Given the description of an element on the screen output the (x, y) to click on. 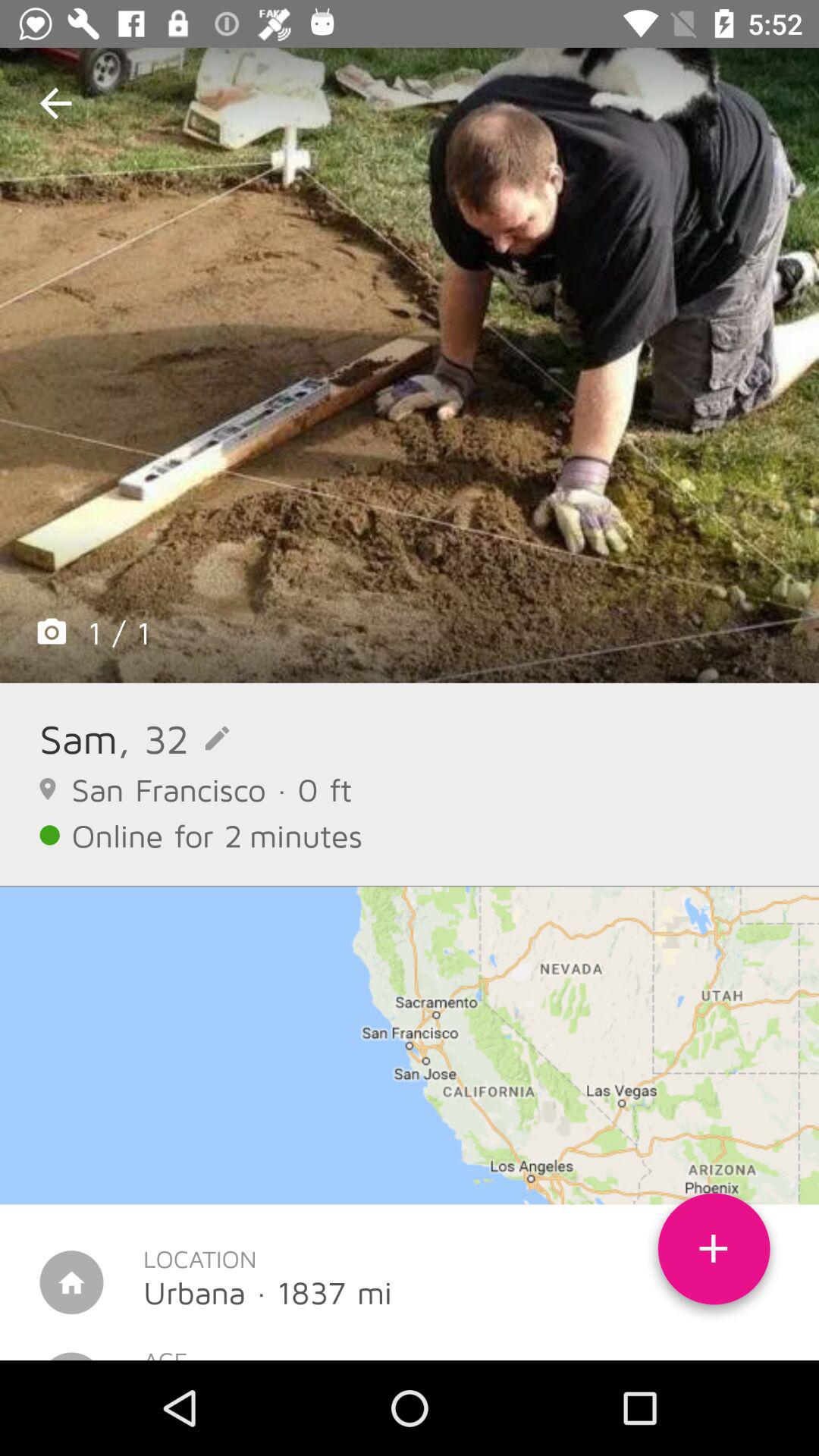
turn on the icon above san francisco 0 (173, 738)
